Given the description of an element on the screen output the (x, y) to click on. 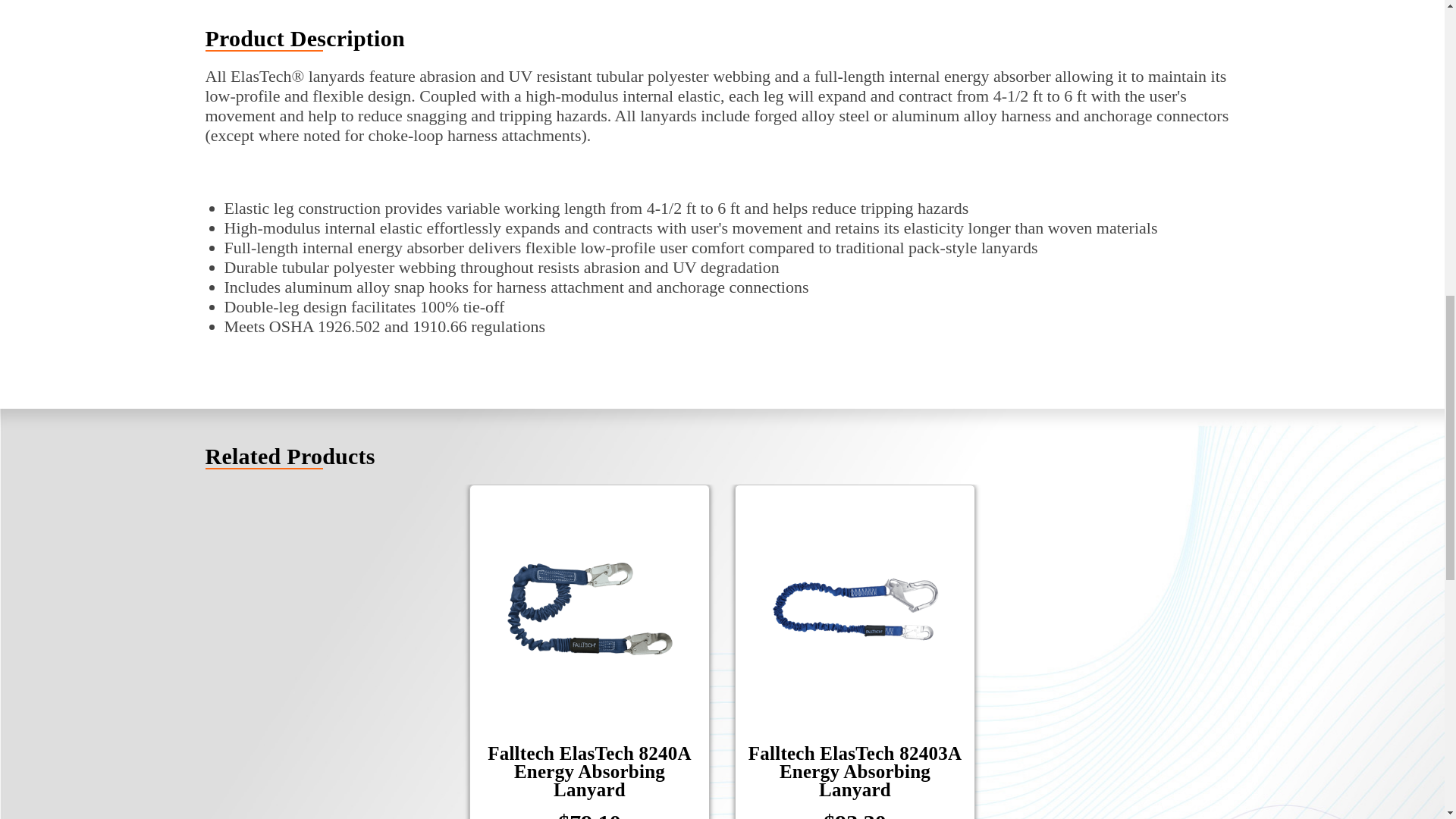
Falltech ElasTech 82403A Energy Absorbing Lanyard (855, 608)
Falltech ElasTech 8240A Energy Absorbing Lanyard (590, 608)
